Given the description of an element on the screen output the (x, y) to click on. 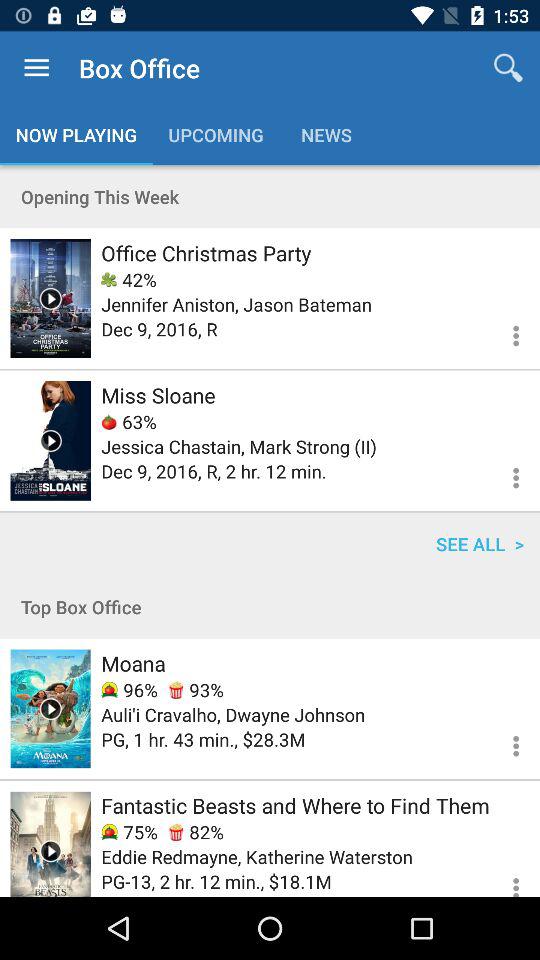
choose the icon to the right of box office (508, 67)
